Given the description of an element on the screen output the (x, y) to click on. 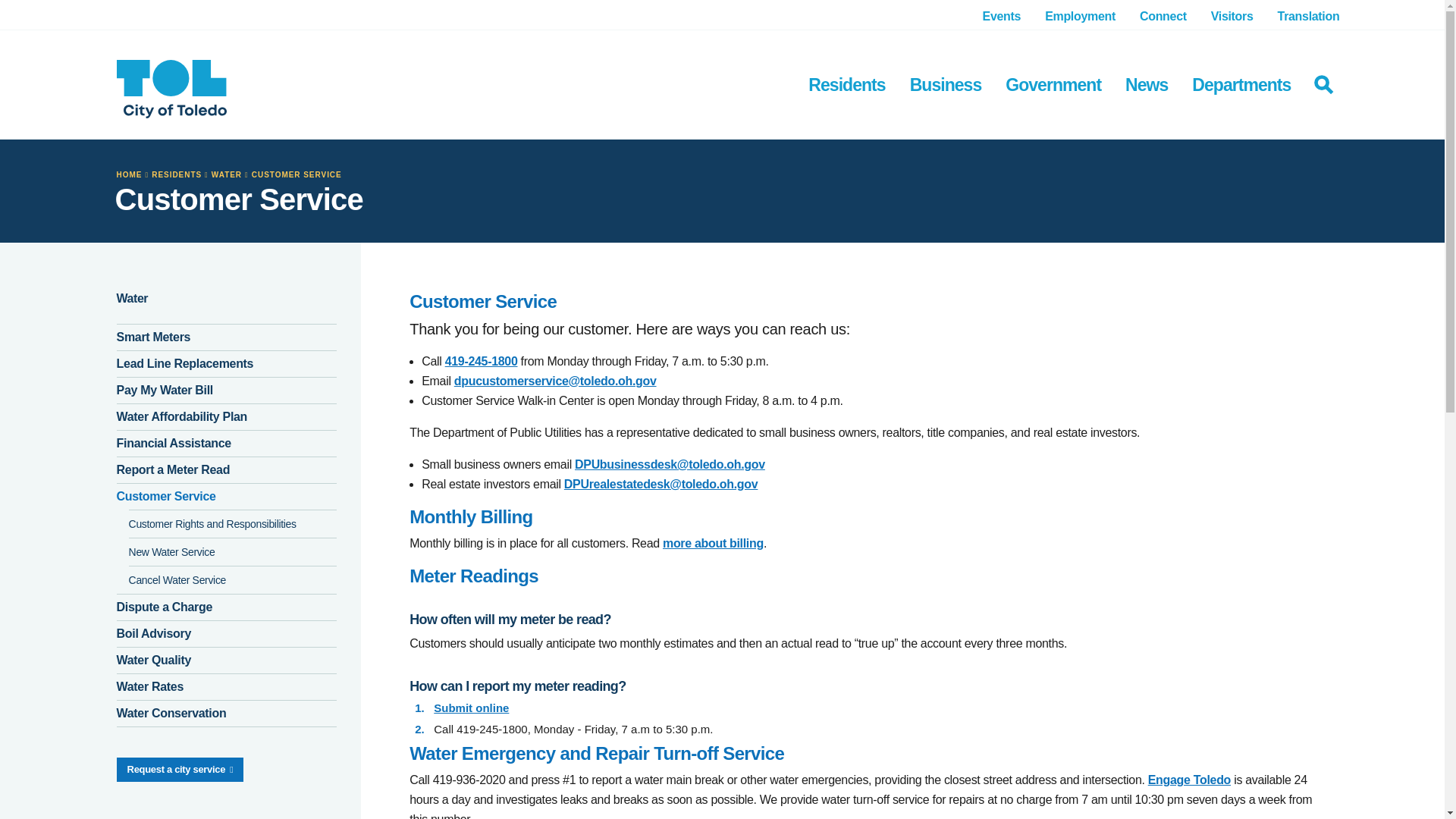
Connect (1163, 15)
Employment (1080, 15)
Events (1002, 15)
Visitors (1232, 15)
Translation (1308, 15)
Residents (846, 84)
